Given the description of an element on the screen output the (x, y) to click on. 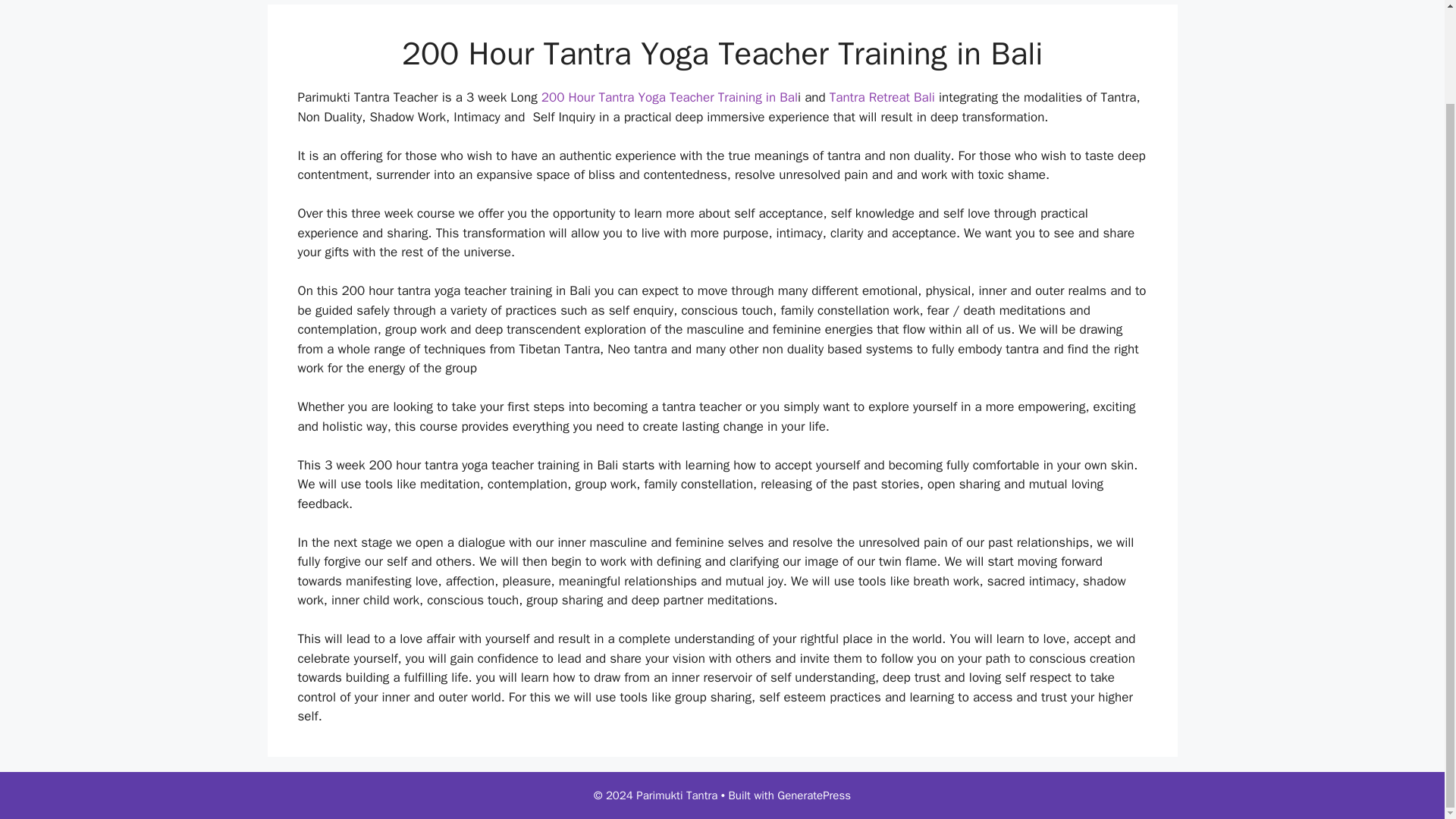
200 Hour Tantra Yoga Teacher Training in Bal (669, 97)
Tantra Retreat Bali (881, 97)
GeneratePress (813, 795)
